Given the description of an element on the screen output the (x, y) to click on. 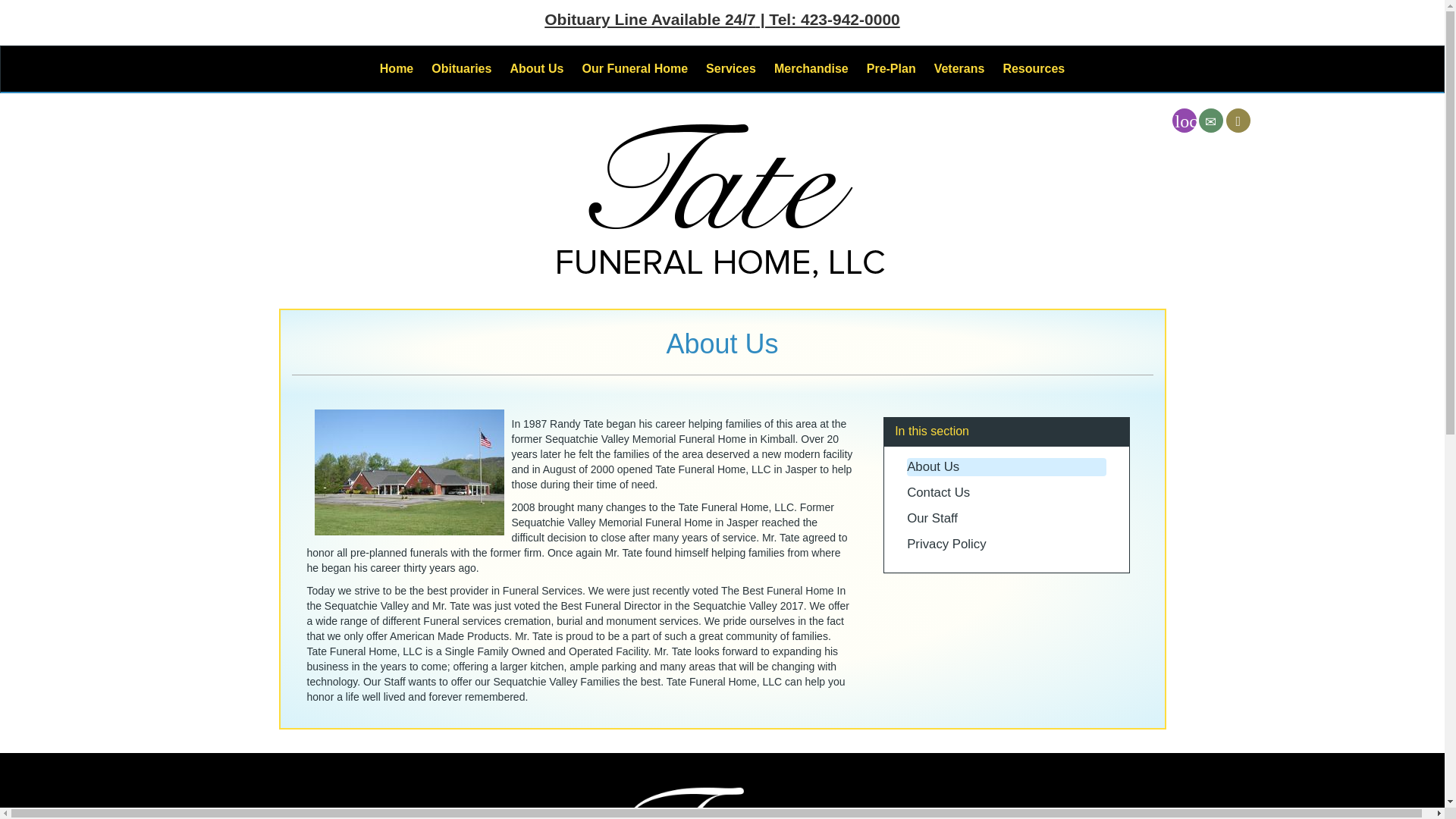
Pre-Plan (890, 68)
Contact Us (1210, 120)
Merchandise (811, 68)
Home (396, 68)
Our Staff (932, 518)
Veterans (959, 68)
Our Funeral Home (635, 68)
Resources (1033, 68)
Contact Us (938, 492)
About Us (536, 68)
